Given the description of an element on the screen output the (x, y) to click on. 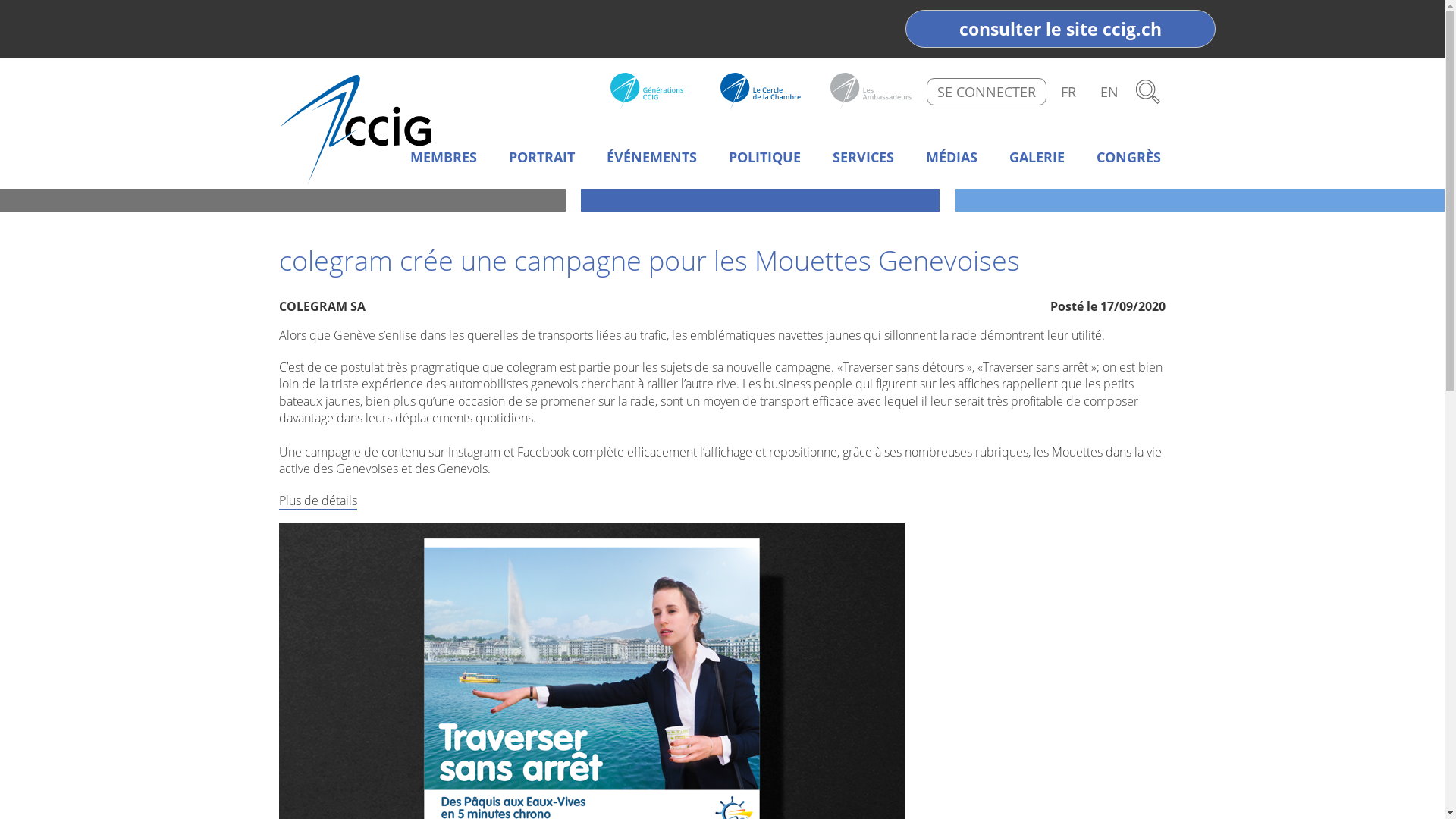
PORTRAIT Element type: text (541, 158)
login mycci Element type: text (926, 26)
GALERIE Element type: text (1036, 158)
POLITIQUE Element type: text (764, 158)
EN Element type: text (1109, 91)
Rechercher Element type: text (1147, 91)
MEMBRES Element type: text (443, 158)
Login Element type: text (766, 26)
Rechercher Element type: text (576, 26)
SERVICES Element type: text (863, 158)
consulter le site ccig.ch Element type: text (1060, 28)
SE CONNECTER Element type: text (986, 91)
